Given the description of an element on the screen output the (x, y) to click on. 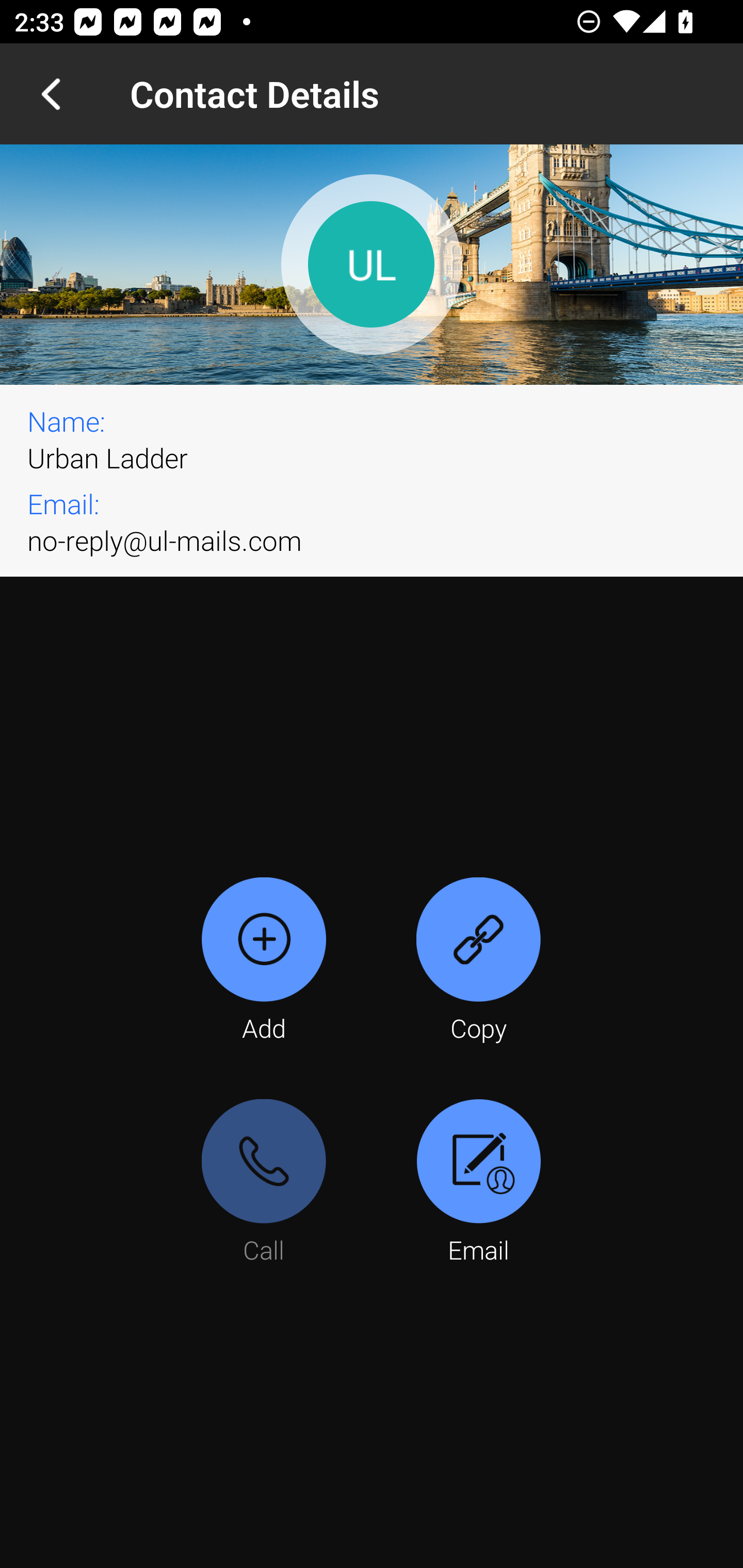
Navigate up (50, 93)
Add (264, 961)
Copy (478, 961)
Call (264, 1182)
Email (478, 1182)
